Given the description of an element on the screen output the (x, y) to click on. 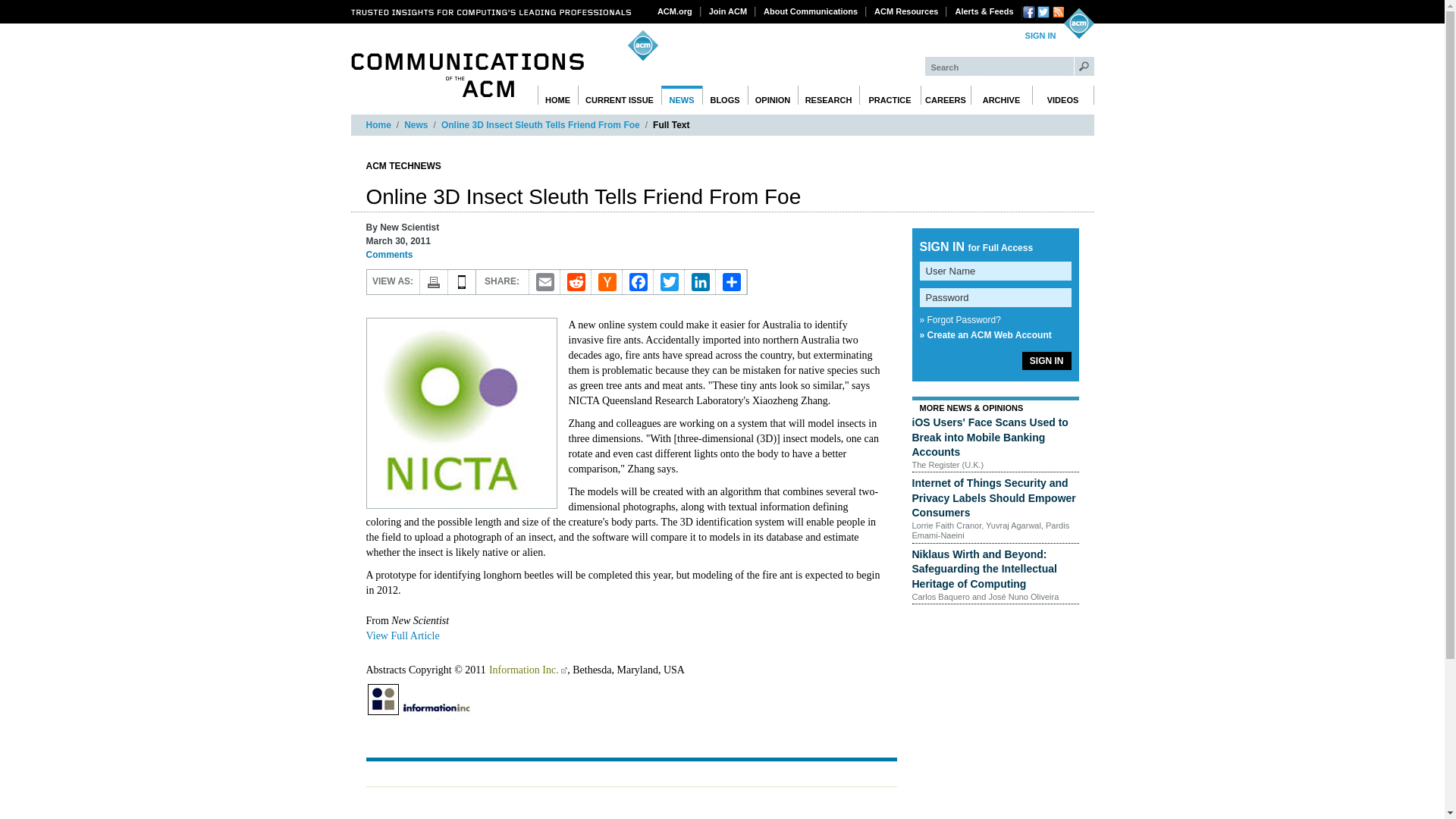
Join ACM (727, 11)
PRACTICE (889, 94)
NEWS (682, 94)
CAREERS (945, 94)
NICTA (460, 412)
CURRENT ISSUE (620, 94)
ACM (1077, 23)
About Communications (810, 11)
ACM Resources (906, 11)
Login (1041, 35)
BLOGS (724, 94)
Communications of the ACM (466, 75)
ACM.org (674, 11)
Go (1084, 66)
OPINION (772, 94)
